Given the description of an element on the screen output the (x, y) to click on. 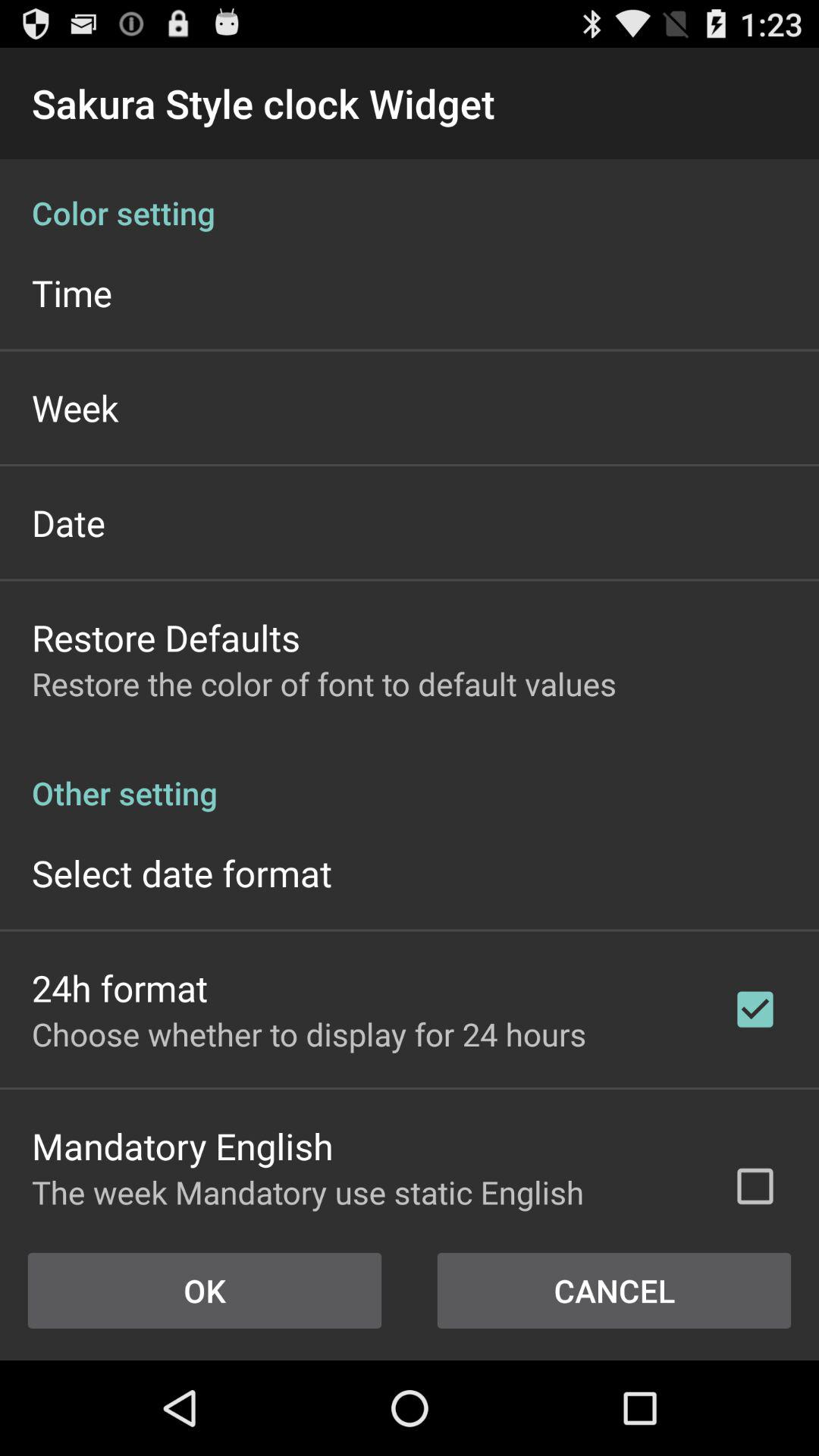
launch the cancel icon (614, 1290)
